Given the description of an element on the screen output the (x, y) to click on. 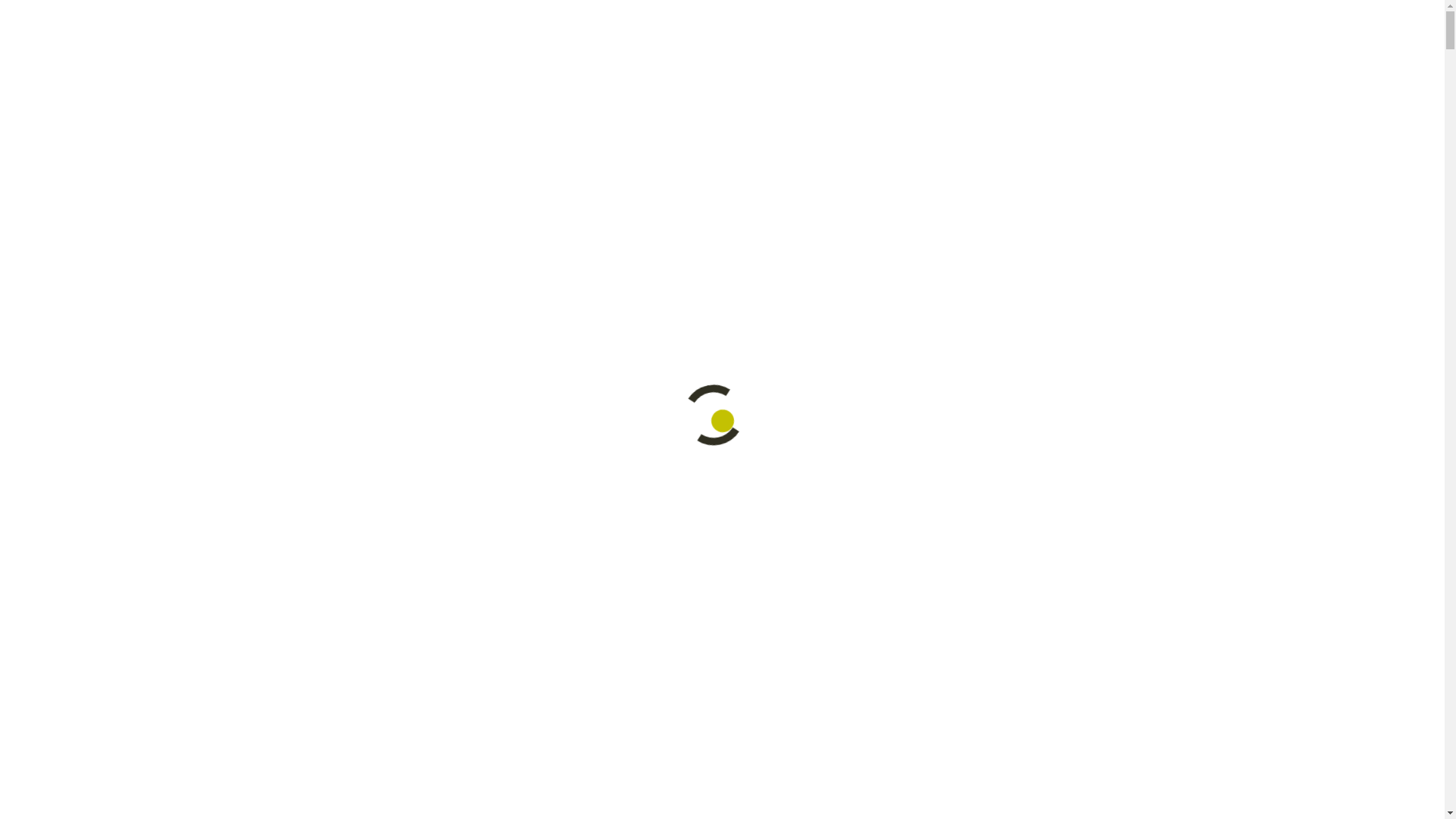
WEBSHOP Element type: text (737, 251)
OUTLET Element type: text (737, 436)
LOGIN Element type: text (737, 559)
CONTACT Element type: text (737, 498)
FR Element type: text (1257, 55)
Navigatie Element type: text (48, 71)
TEAM Element type: text (737, 375)
HOME Element type: text (737, 189)
LOG IN Element type: text (355, 14)
TIJDELIJKE PROMO'S Element type: text (431, 14)
WINKELWAGEN Element type: text (1344, 42)
Zoek Element type: text (195, 15)
WORKSHOPS Element type: text (737, 313)
